Given the description of an element on the screen output the (x, y) to click on. 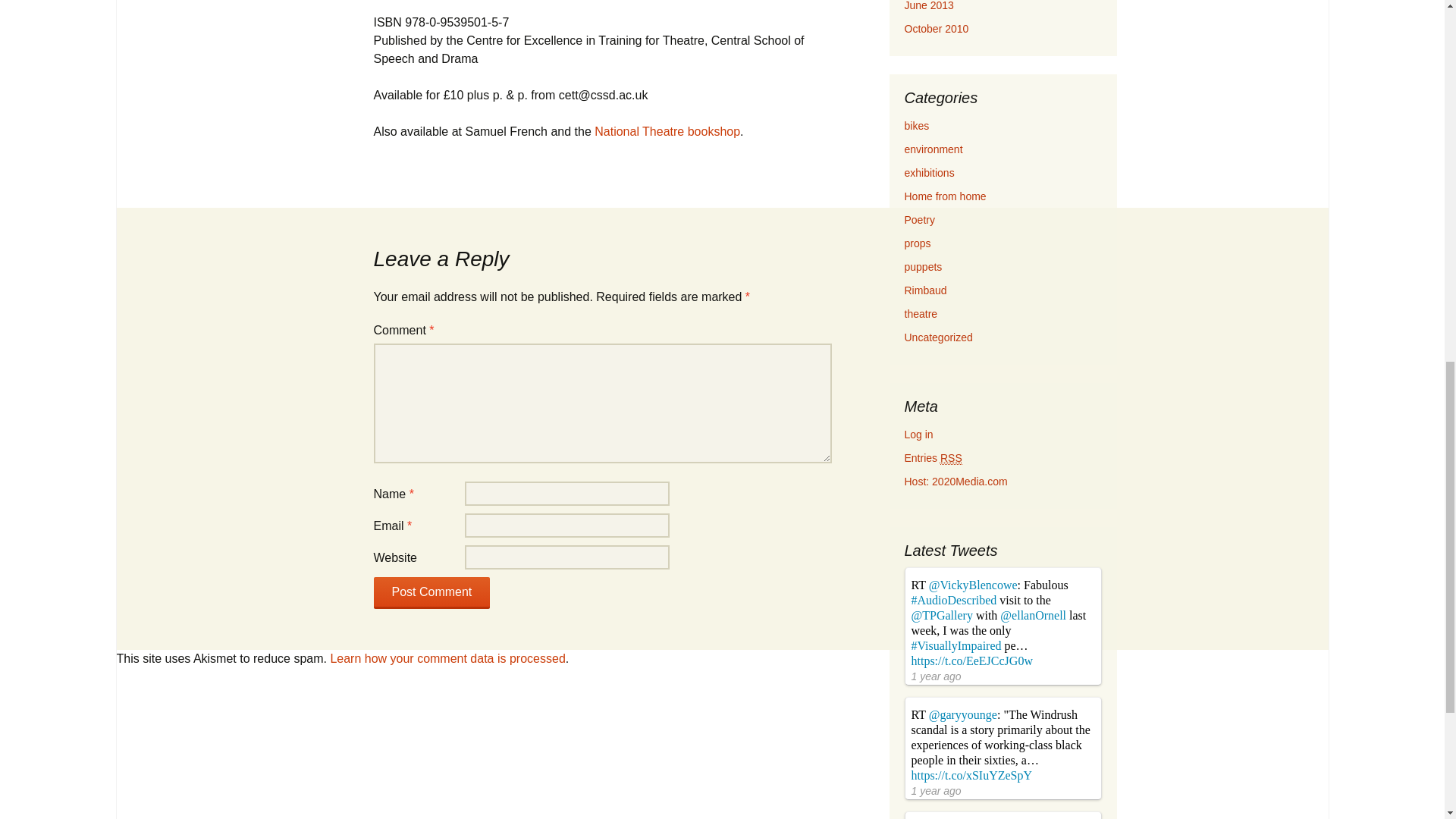
National Theatre bookshop (666, 131)
Post Comment (430, 593)
Post Comment (430, 593)
Learn how your comment data is processed (447, 658)
Really Simple Syndication (951, 458)
